Given the description of an element on the screen output the (x, y) to click on. 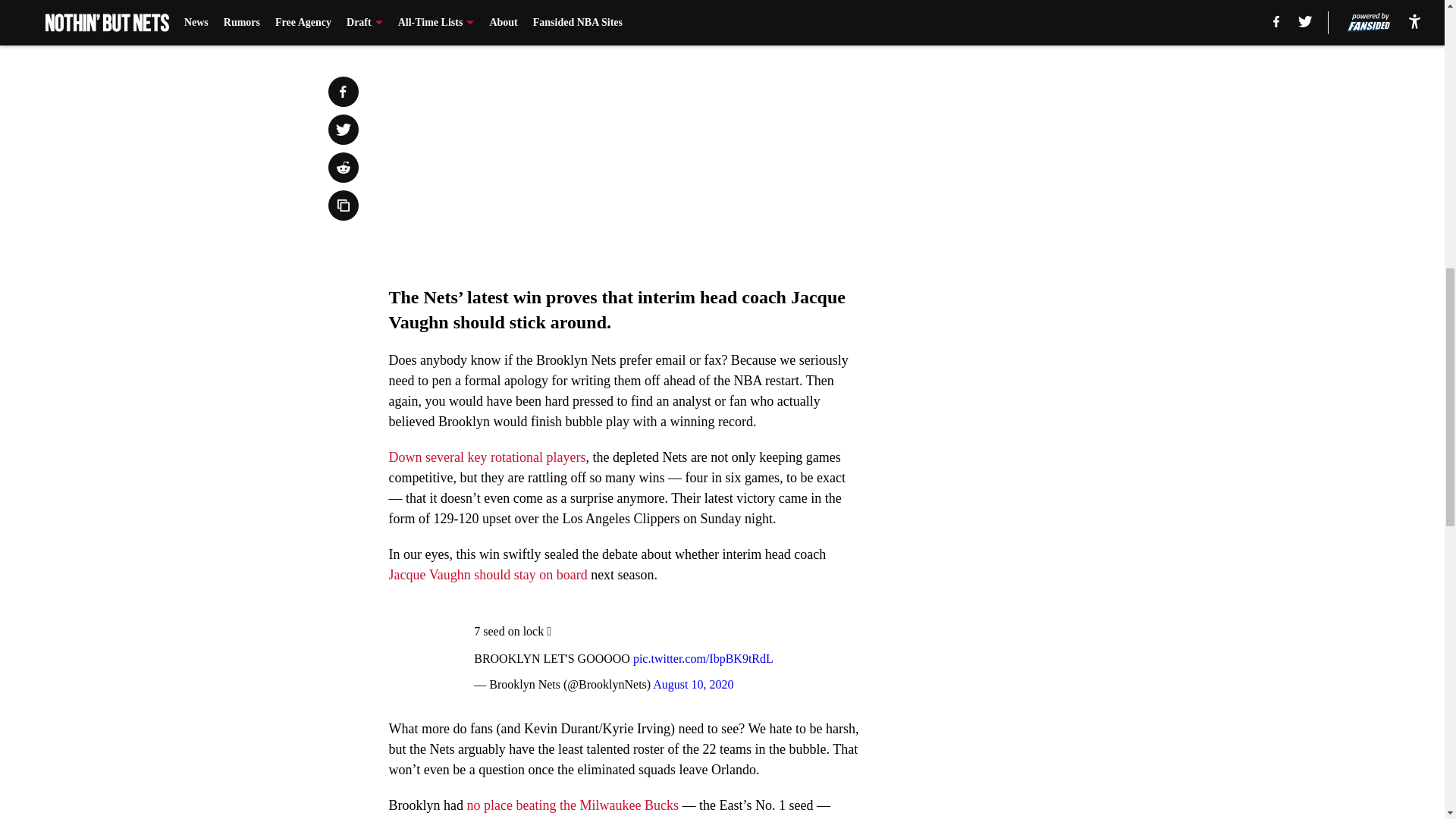
no place beating the Milwaukee Bucks (572, 805)
Down several key rotational players (486, 457)
Jacque Vaughn should stay on board (487, 574)
August 10, 2020 (692, 684)
